Given the description of an element on the screen output the (x, y) to click on. 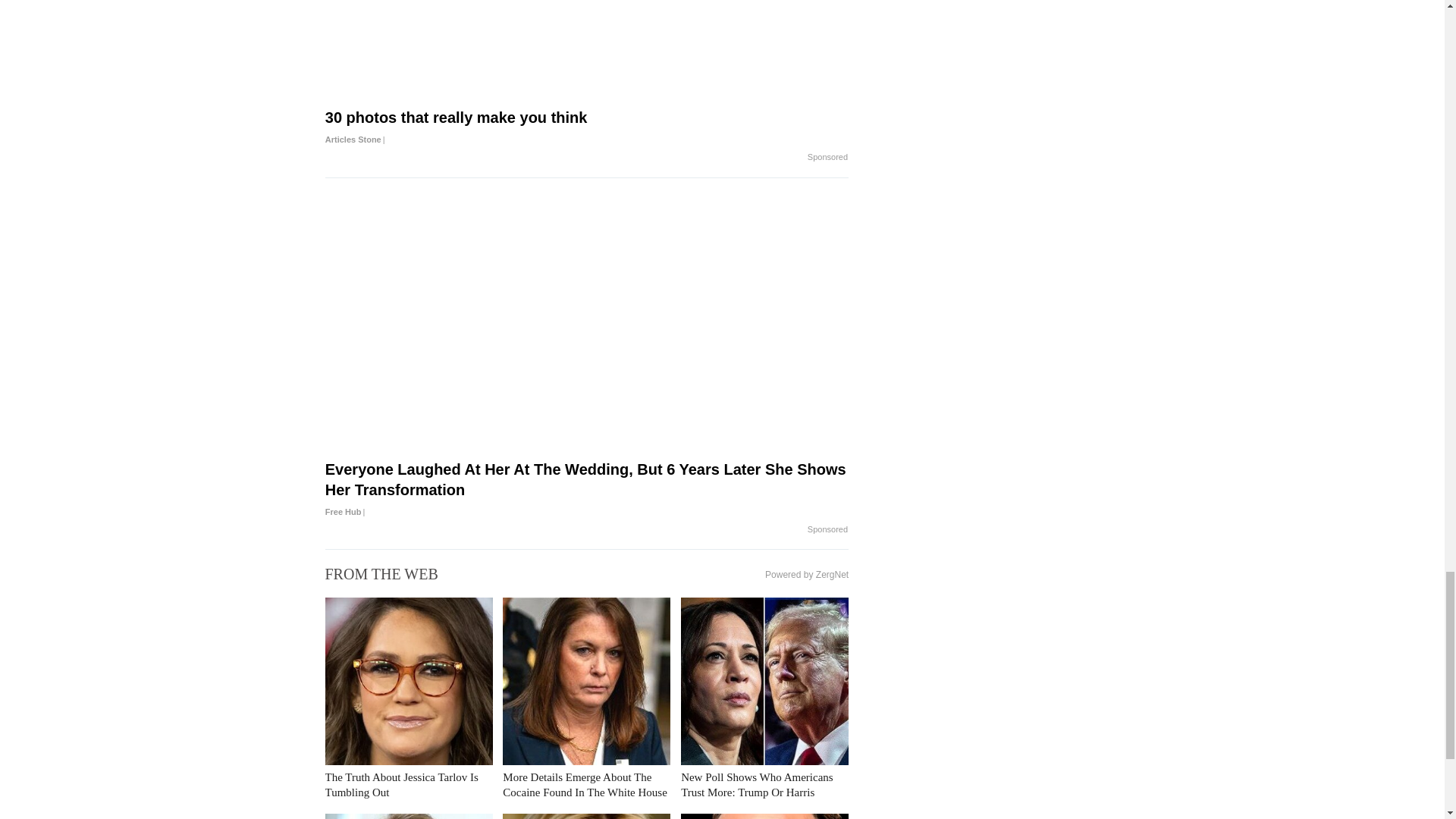
The Truth About Jessica Tarlov Is Tumbling Out (400, 784)
30 photos that really make you think (586, 128)
Sponsored (827, 157)
Sponsored (827, 529)
